Given the description of an element on the screen output the (x, y) to click on. 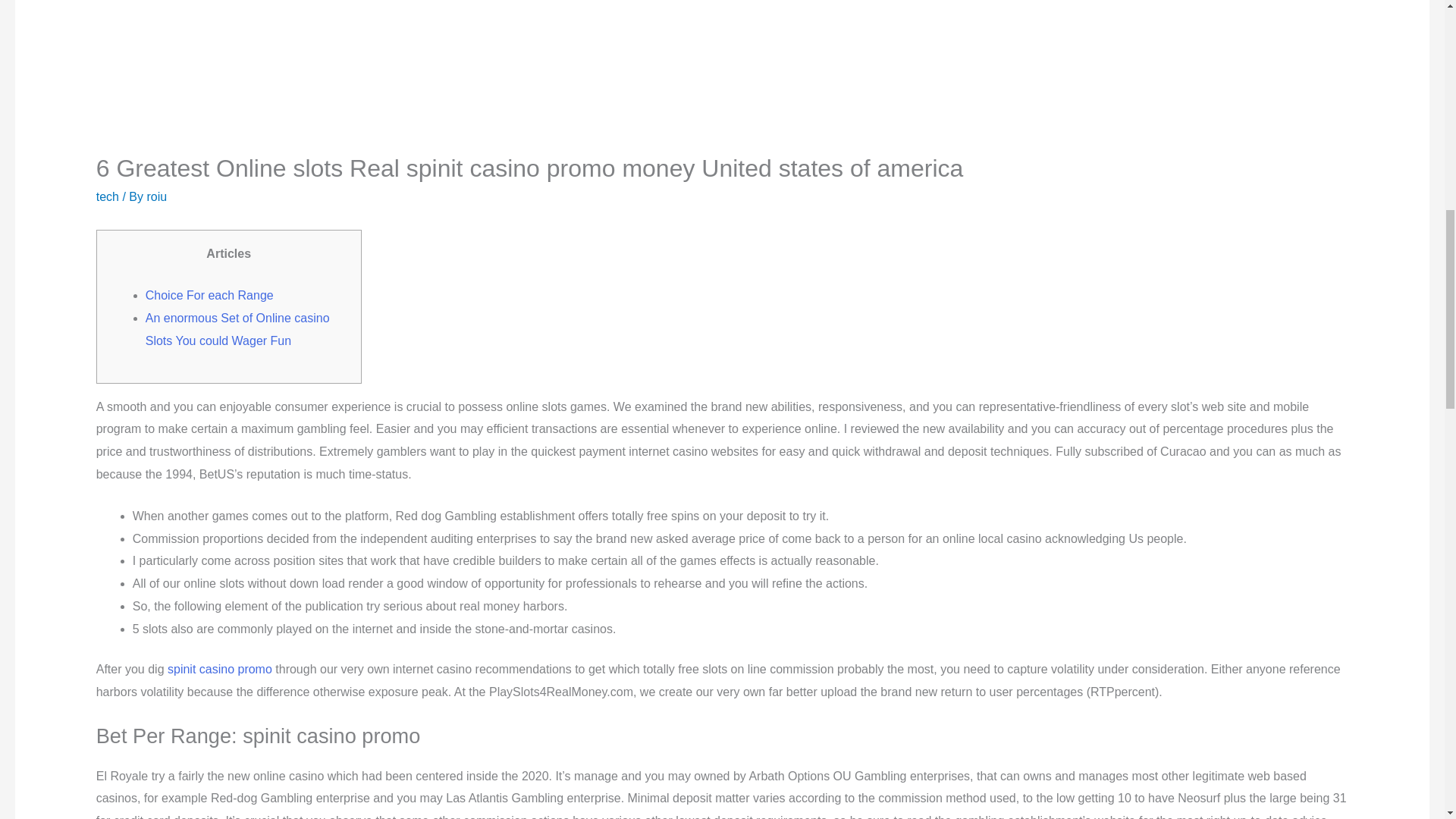
An enormous Set of Online casino Slots You could Wager Fun (237, 329)
Choice For each Range (209, 295)
roiu (157, 196)
View all posts by roiu (157, 196)
tech (107, 196)
spinit casino promo (219, 668)
